Given the description of an element on the screen output the (x, y) to click on. 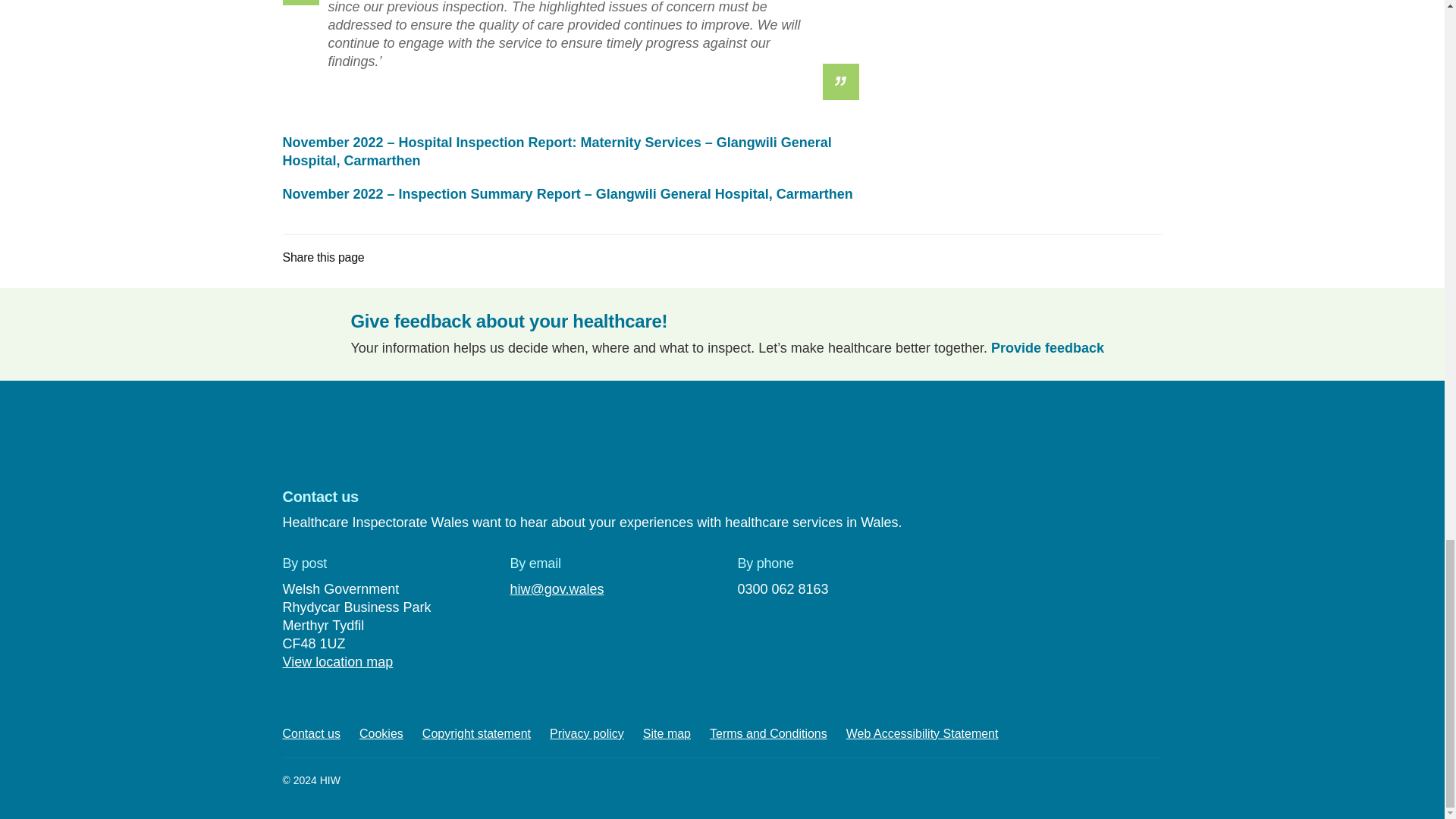
Contact us (310, 733)
View location map (337, 661)
LinkedIn (439, 436)
Provide feedback (1047, 347)
Give feedback about your healthcare! (508, 321)
Twitter (383, 260)
YouTube (393, 436)
Email (438, 260)
Facebook (345, 436)
Facebook (410, 260)
Twitter (298, 436)
